Given the description of an element on the screen output the (x, y) to click on. 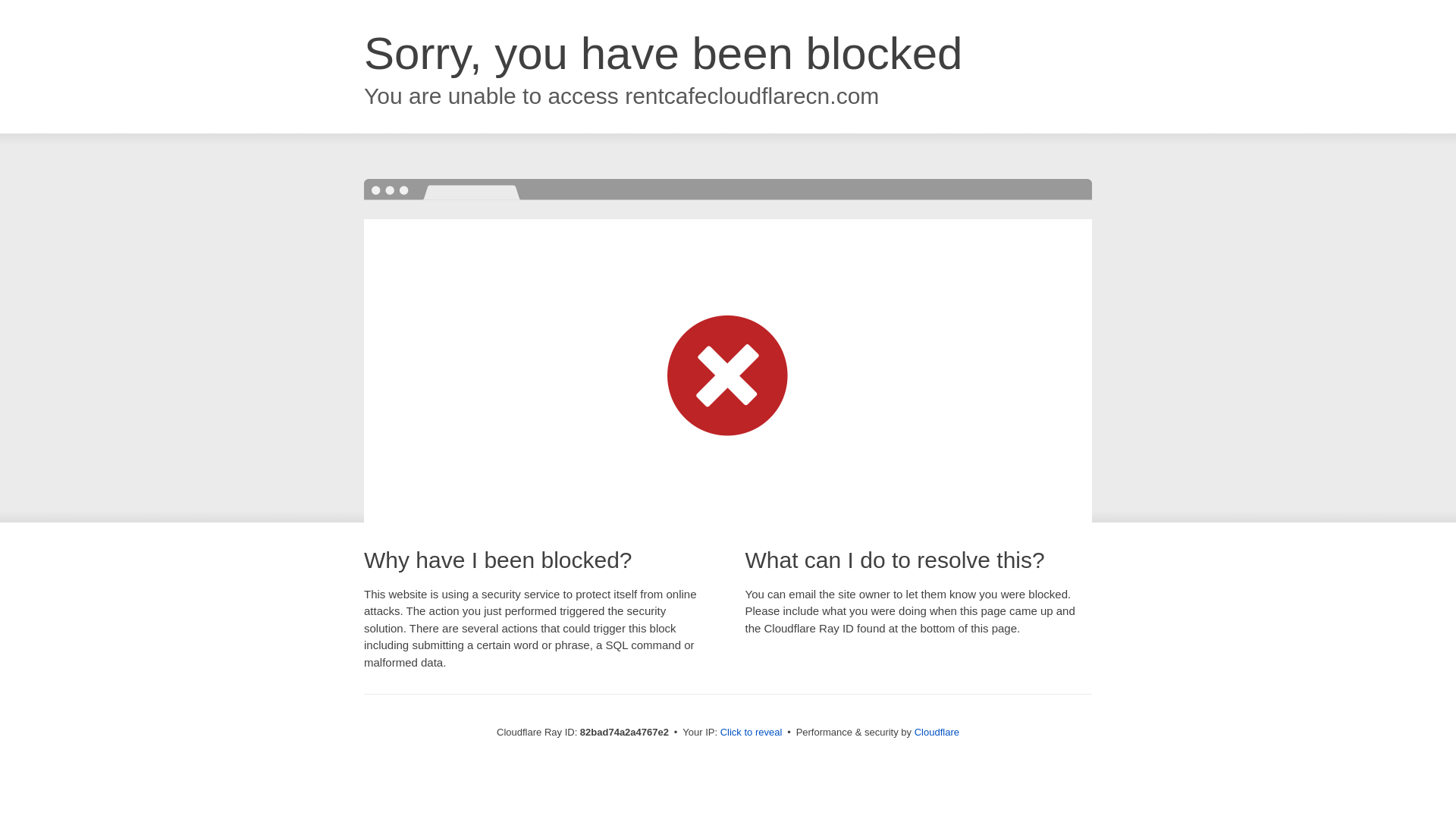
Cloudflare Element type: text (936, 731)
Click to reveal Element type: text (751, 732)
